Given the description of an element on the screen output the (x, y) to click on. 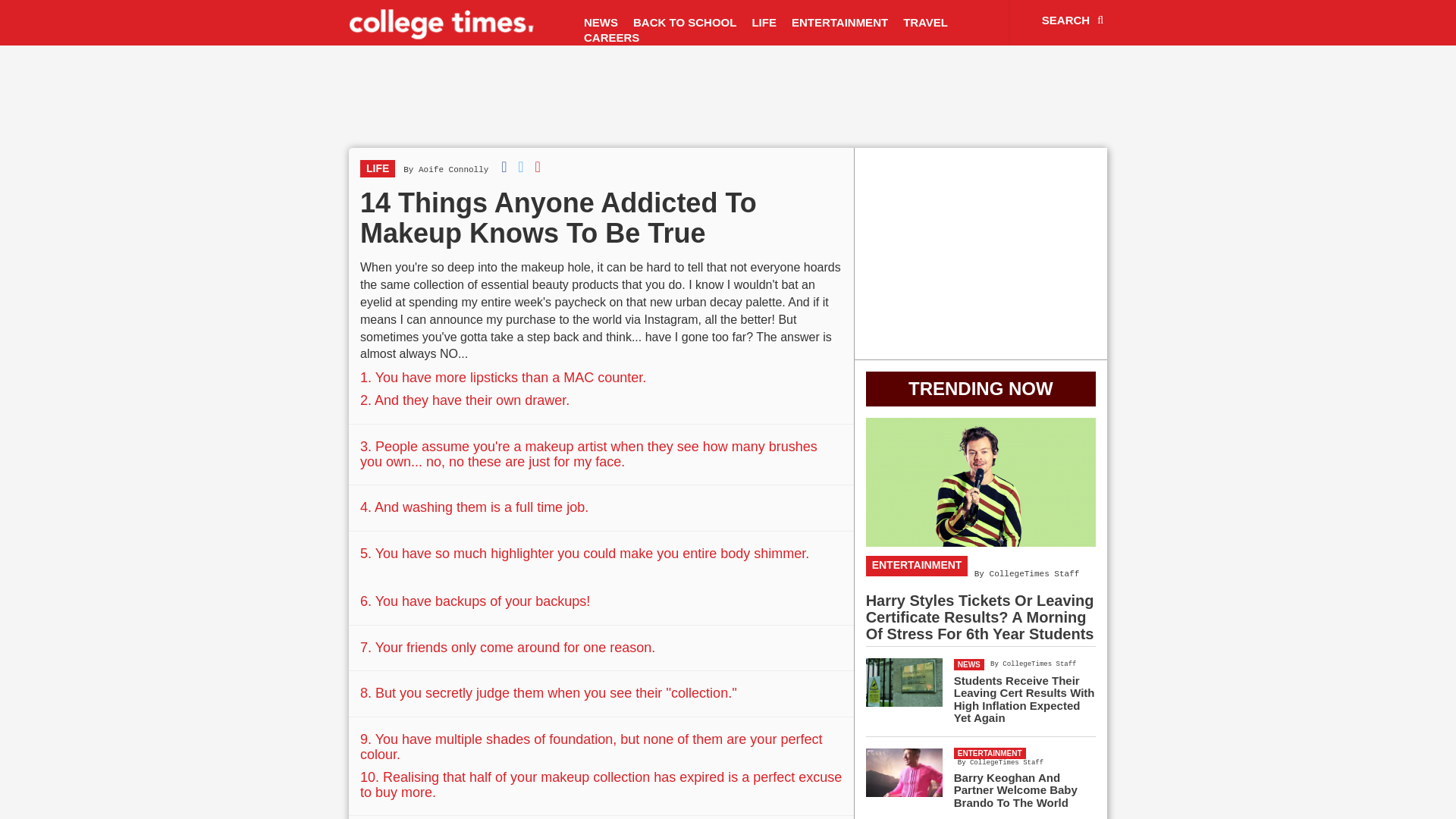
NEWS (601, 22)
BACK TO SCHOOL (685, 22)
TRAVEL (925, 22)
LIFE (764, 22)
Aoife Connolly (453, 169)
CAREERS (611, 37)
ENTERTAINMENT (839, 22)
LIFE (376, 168)
